Given the description of an element on the screen output the (x, y) to click on. 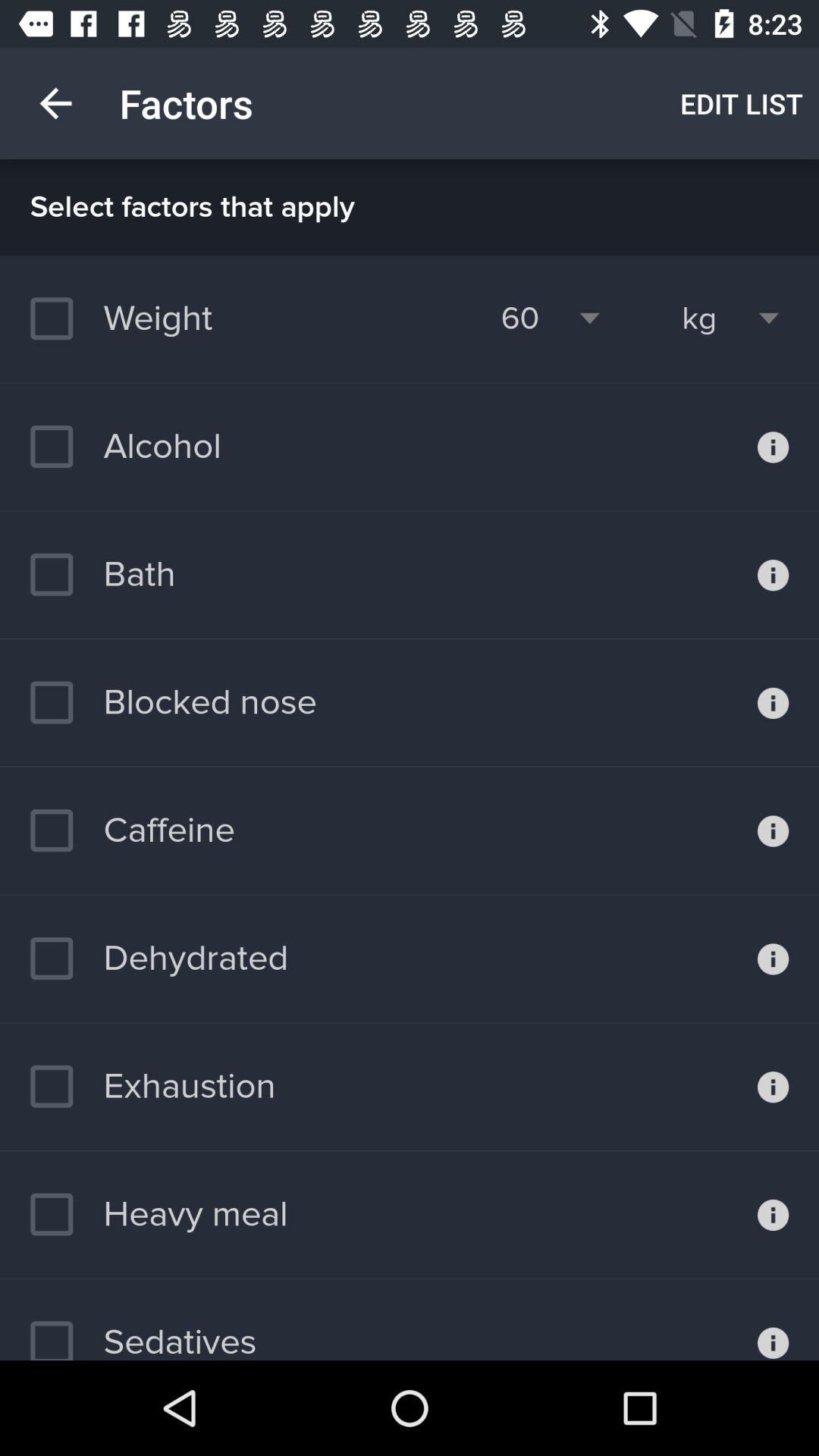
view information (773, 1319)
